Given the description of an element on the screen output the (x, y) to click on. 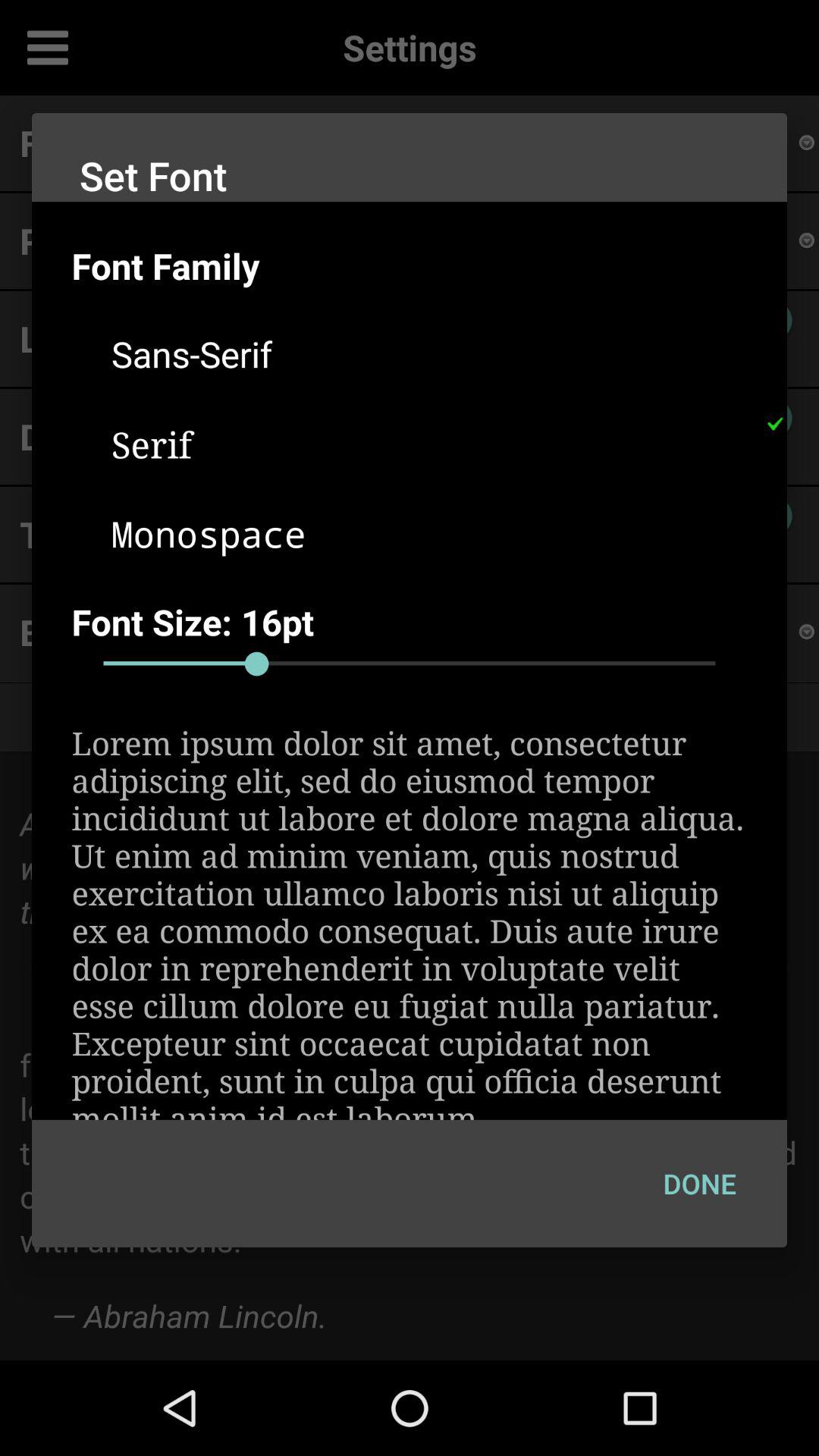
choose the icon above the font size: 16pt item (774, 423)
